Given the description of an element on the screen output the (x, y) to click on. 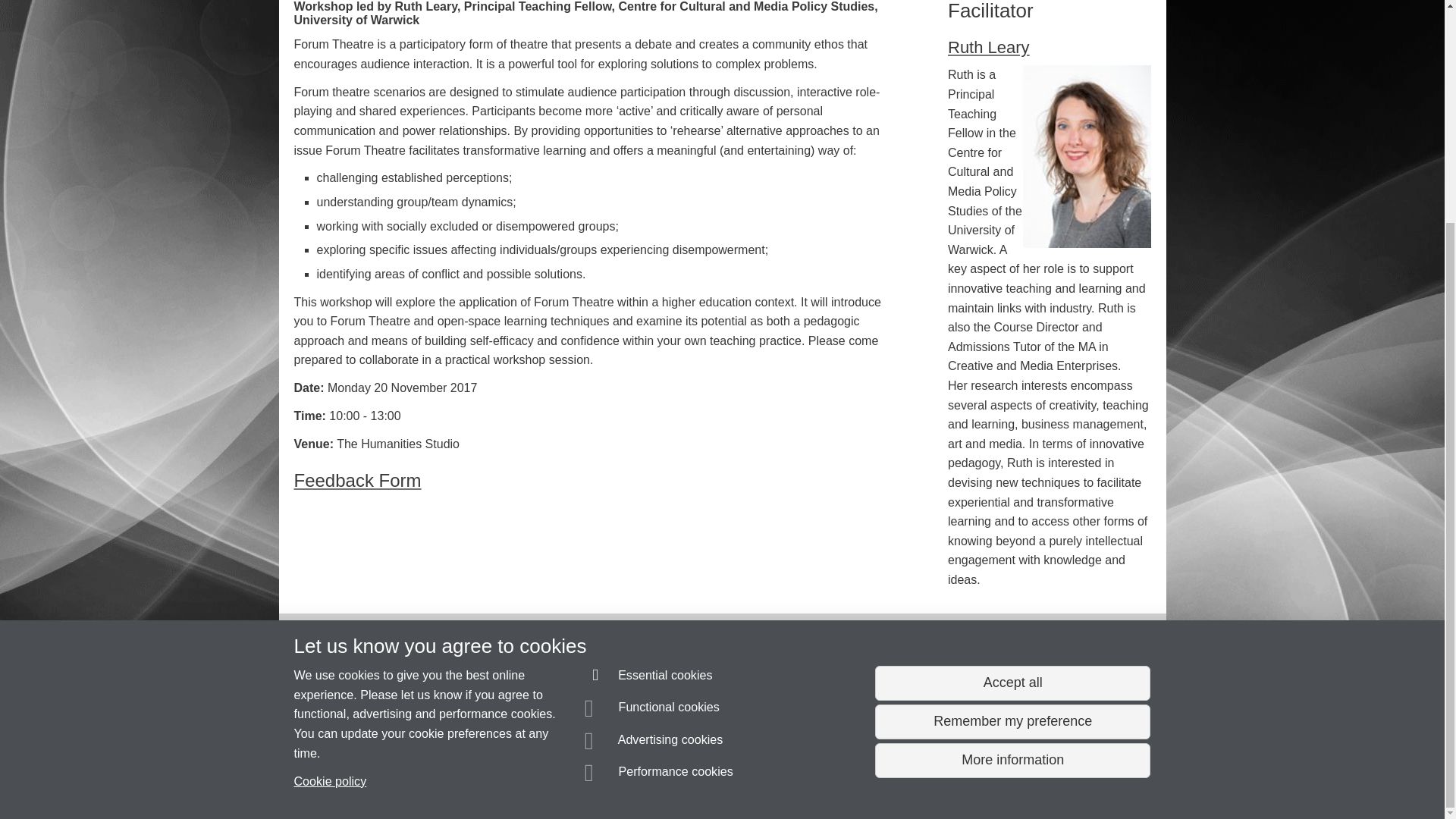
Copyright Statement (514, 780)
Send an email to OD (358, 751)
More information about SiteBuilder (365, 780)
Information about cookies (467, 780)
Terms of use (708, 780)
Privacy notice (673, 780)
